Given the description of an element on the screen output the (x, y) to click on. 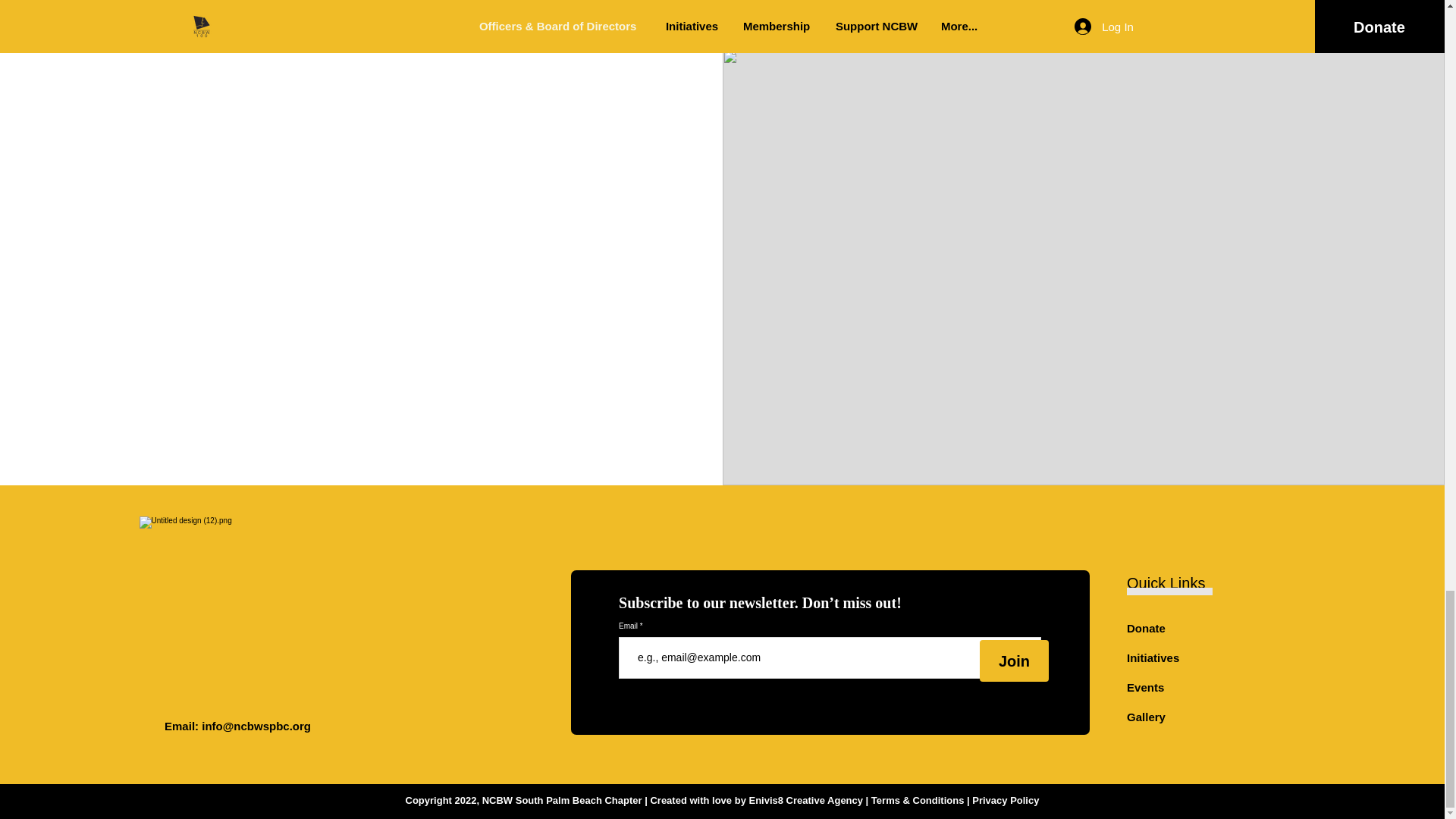
Join (1013, 660)
Events (1144, 686)
Donate (1146, 627)
Gallery (1146, 716)
Initiatives (1152, 657)
